Given the description of an element on the screen output the (x, y) to click on. 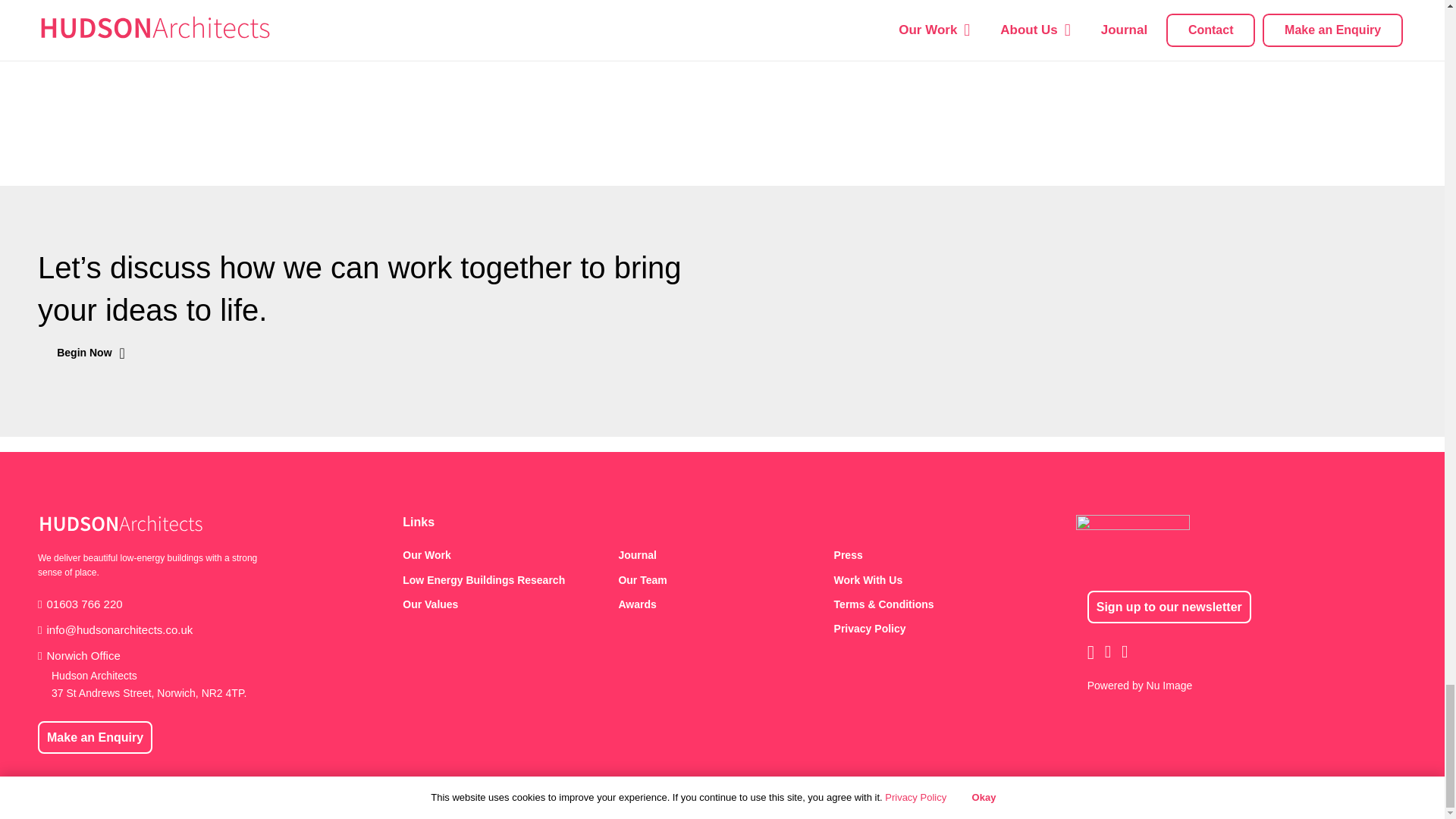
Our Work (506, 555)
Awards (721, 604)
Make an Enquiry (94, 737)
Journal (721, 555)
Press (938, 555)
Continue reading (1026, 15)
Our Values (506, 604)
Continue reading (103, 32)
Begin Now (90, 353)
Low Energy Buildings Research (506, 579)
Continue reading (565, 32)
Work With Us (938, 579)
01603 766 220 (79, 603)
Our Team (721, 579)
